Given the description of an element on the screen output the (x, y) to click on. 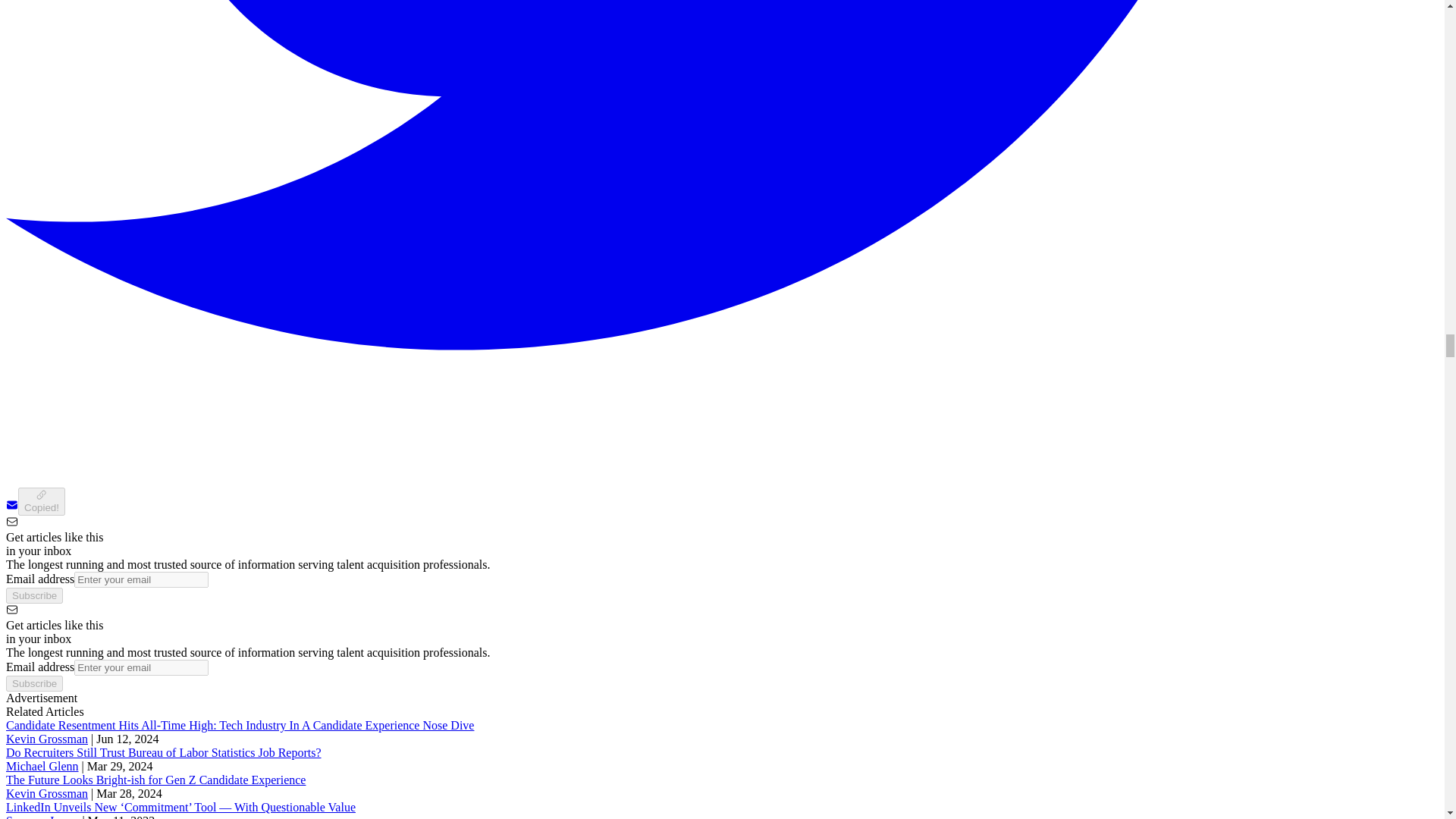
Kevin Grossman (46, 738)
Copied! (41, 501)
Michael Glenn (41, 766)
Subscribe (33, 683)
The Future Looks Bright-ish for Gen Z Candidate Experience (155, 779)
Subscribe (33, 595)
